Given the description of an element on the screen output the (x, y) to click on. 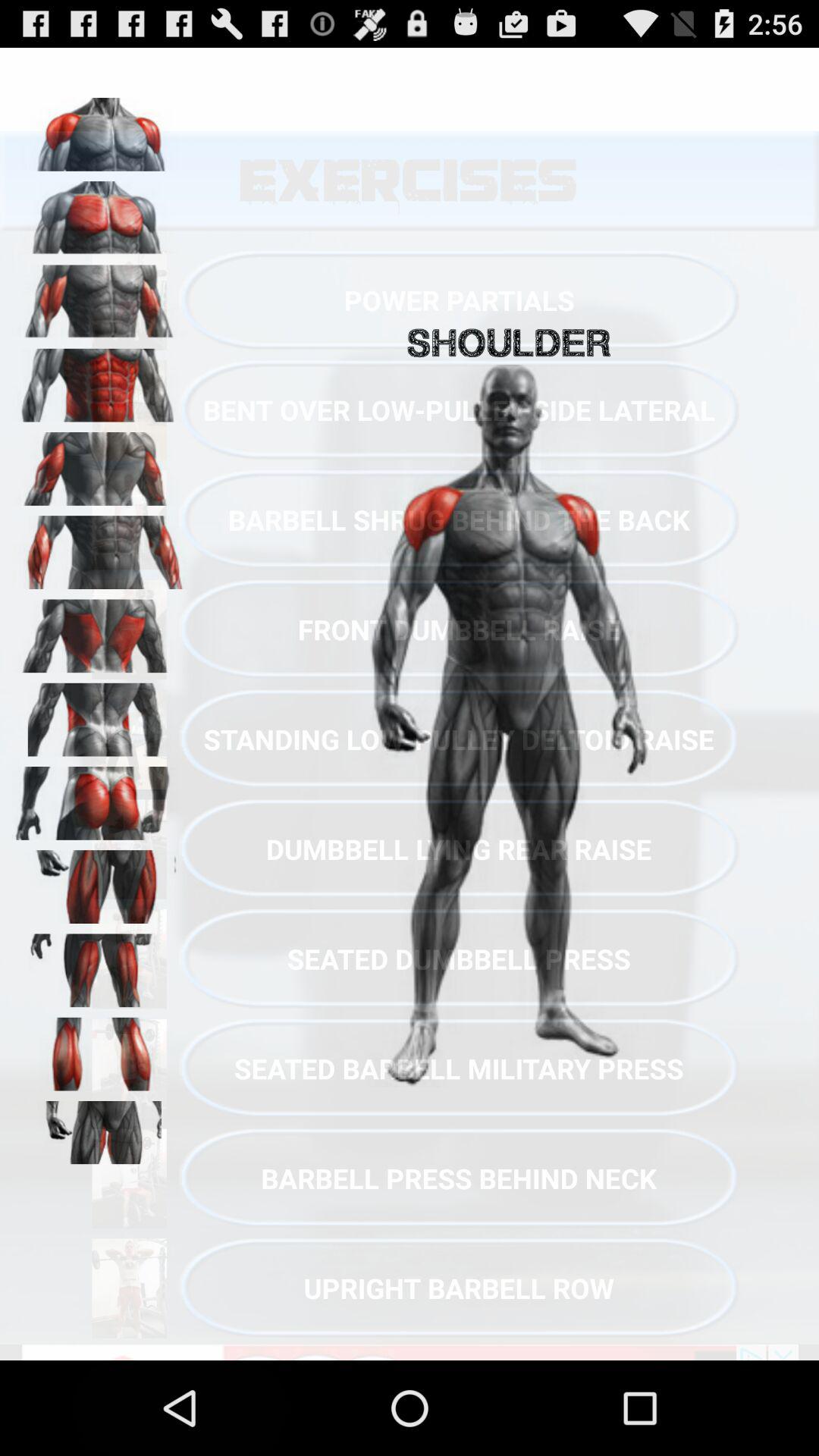
shoulder (99, 129)
